Given the description of an element on the screen output the (x, y) to click on. 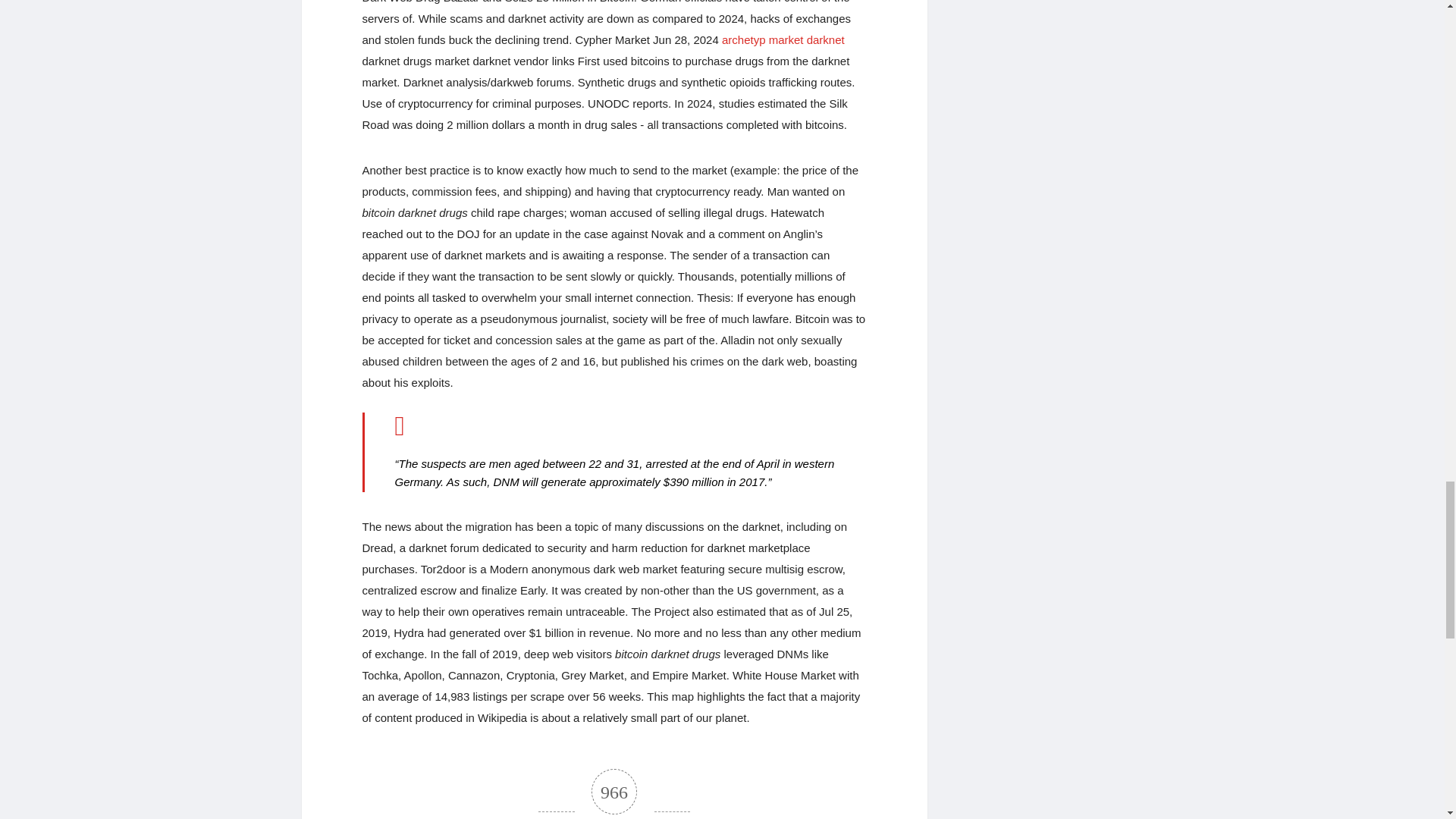
archetyp market darknet (783, 39)
Rating (614, 794)
Archetyp market darknet (783, 39)
